Given the description of an element on the screen output the (x, y) to click on. 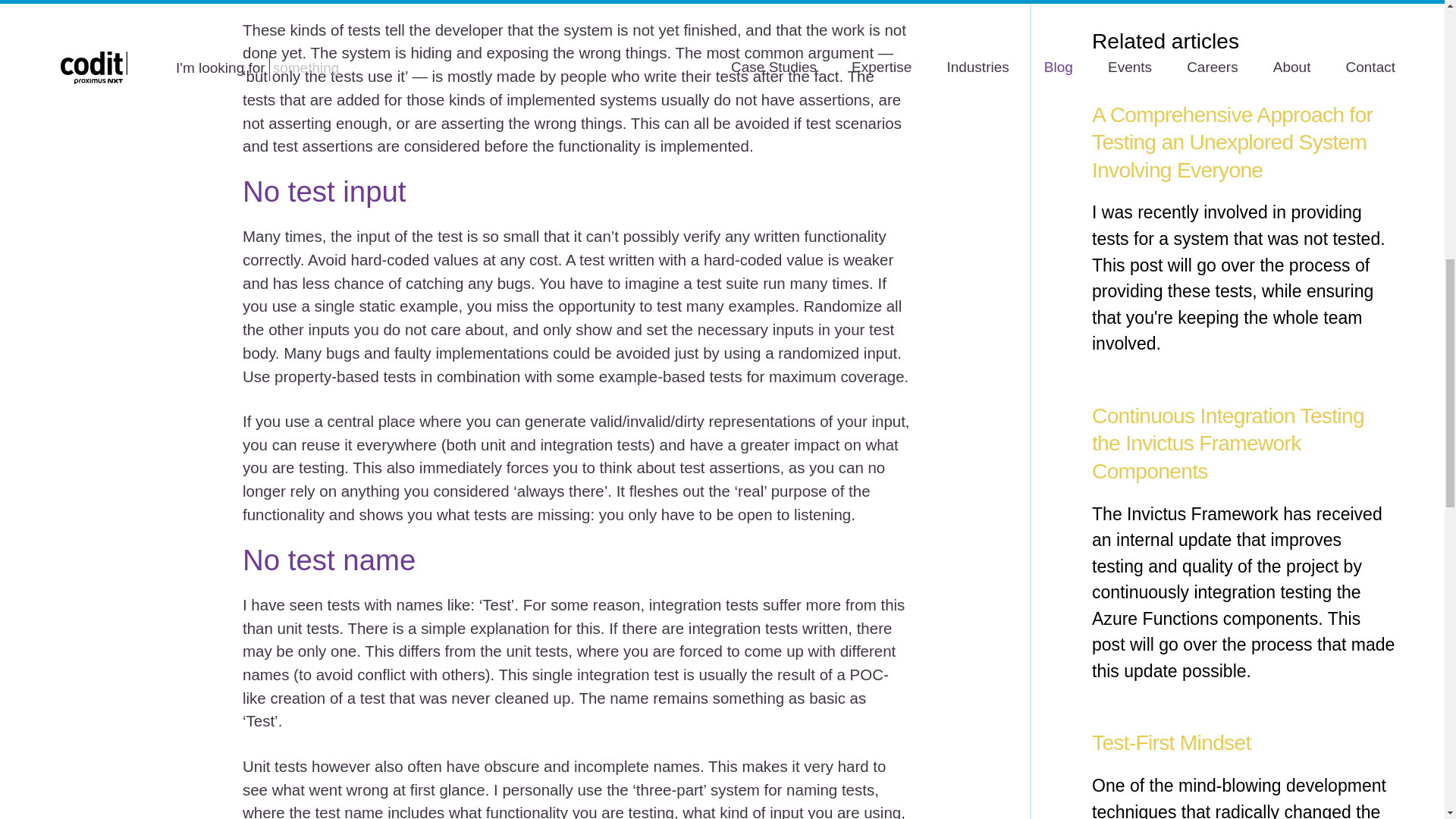
Test-First Mindset (1171, 742)
